Given the description of an element on the screen output the (x, y) to click on. 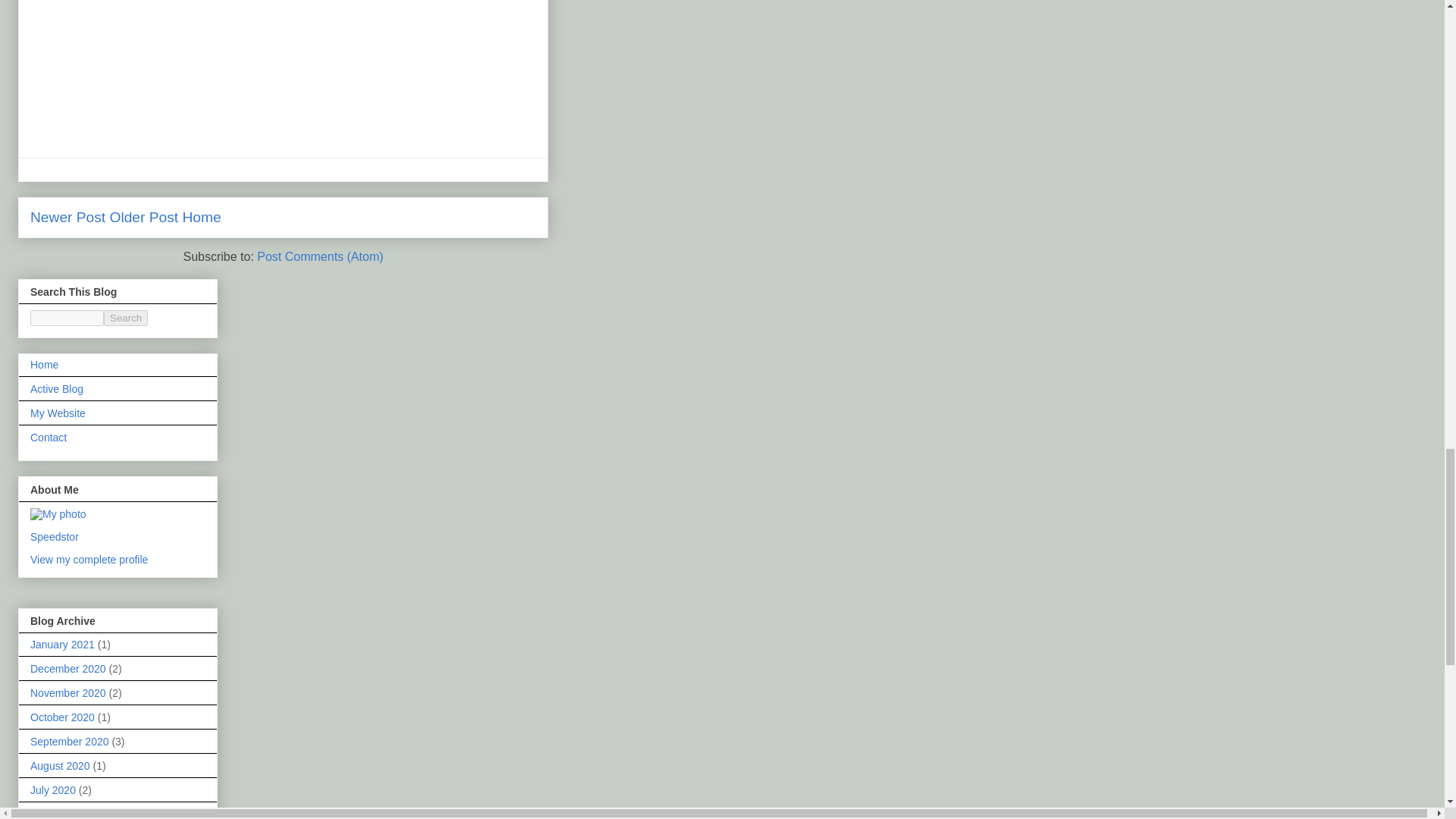
Speedstor (54, 536)
Home (202, 217)
Home (44, 364)
My Website (57, 413)
Search (125, 317)
View my complete profile (89, 559)
Newer Post (67, 217)
Older Post (144, 217)
August 2020 (60, 766)
September 2020 (69, 741)
December 2020 (68, 668)
search (66, 317)
October 2020 (62, 717)
Active Blog (56, 388)
search (125, 317)
